Given the description of an element on the screen output the (x, y) to click on. 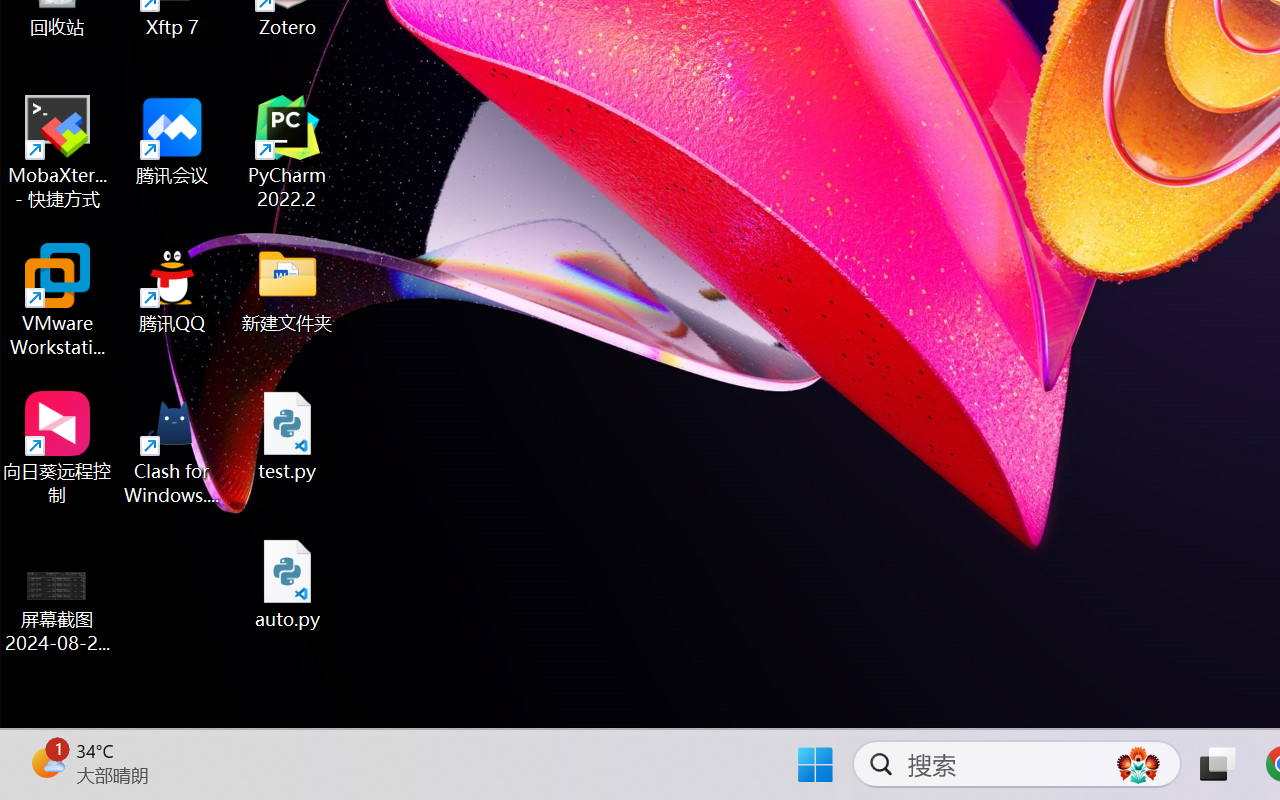
VMware Workstation Pro (57, 300)
PyCharm 2022.2 (287, 152)
auto.py (287, 584)
